Given the description of an element on the screen output the (x, y) to click on. 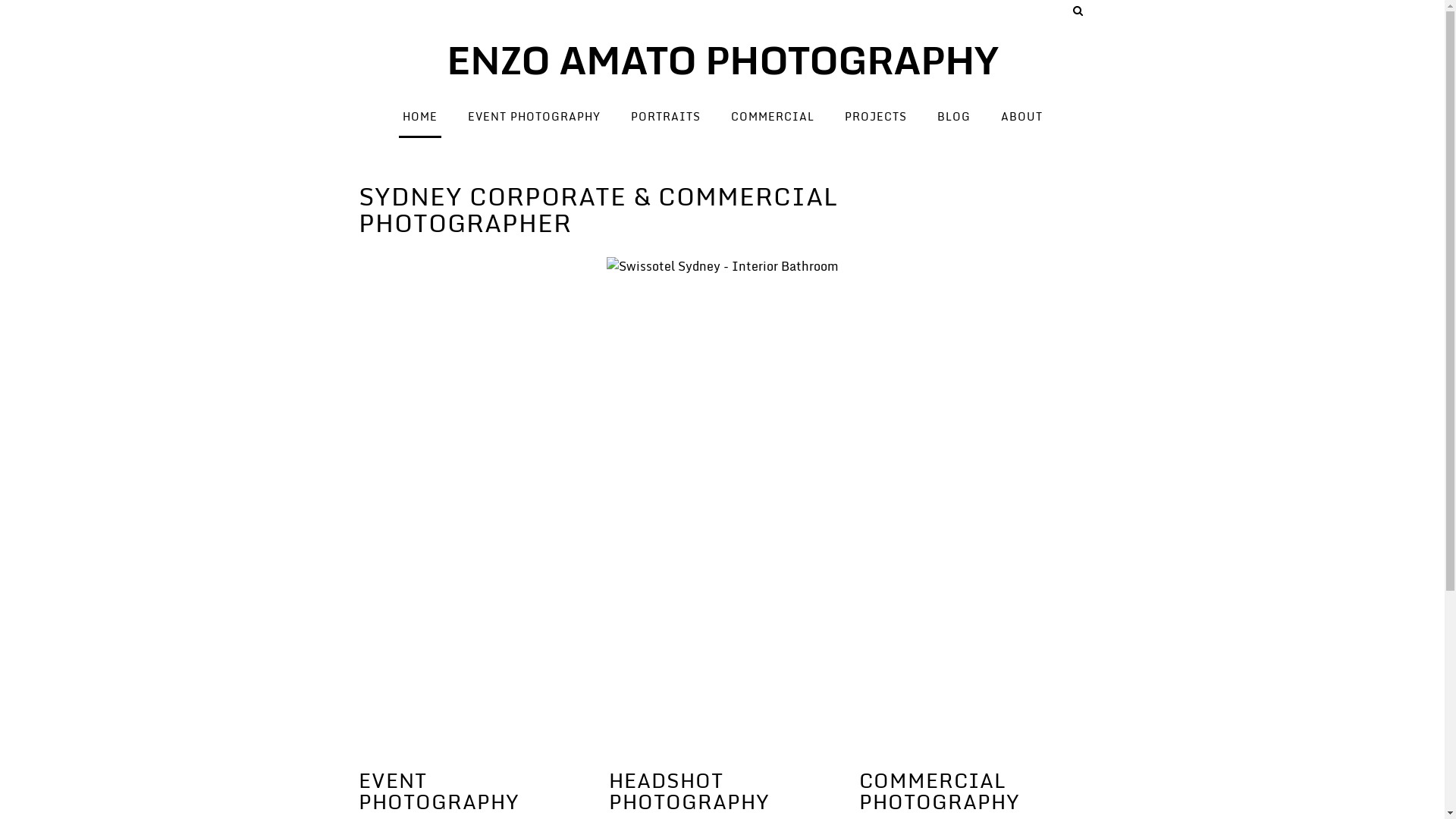
COMMERCIAL Element type: text (771, 117)
EVENT PHOTOGRAPHY Element type: text (534, 117)
ABOUT Element type: text (1020, 117)
ENZO AMATO PHOTOGRAPHY Element type: text (721, 59)
BLOG Element type: text (952, 117)
HEADSHOT
PHOTOGRAPHY Element type: text (688, 791)
PORTRAITS Element type: text (664, 117)
PROJECTS Element type: text (875, 117)
COMMERCIAL
PHOTOGRAPHY Element type: text (938, 791)
EVENT
PHOTOGRAPHY Element type: text (437, 791)
HOME Element type: text (419, 117)
